Given the description of an element on the screen output the (x, y) to click on. 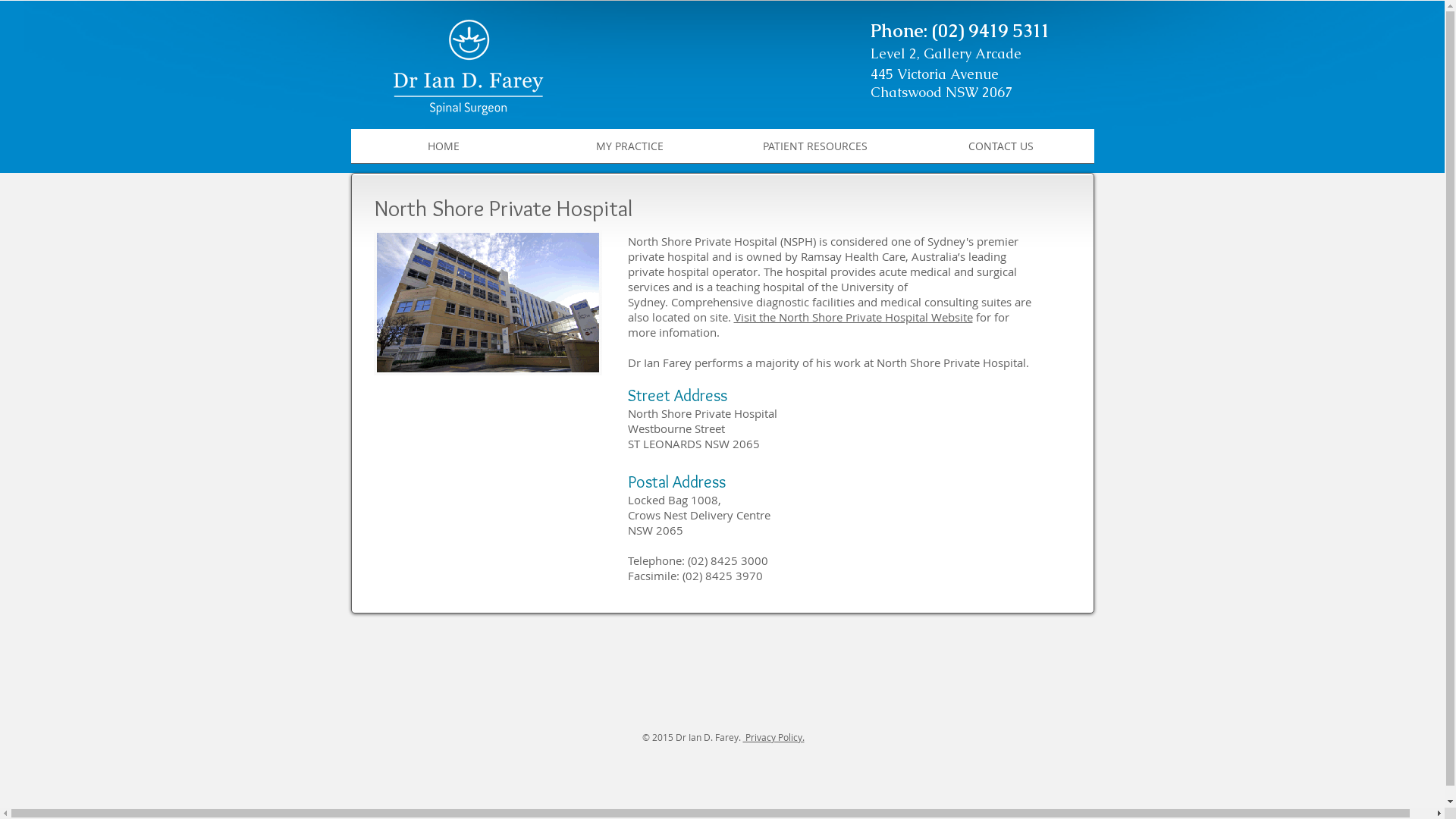
HOME Element type: text (443, 150)
 Privacy Policy. Element type: text (773, 737)
CONTACT US Element type: text (1001, 150)
Visit the North Shore Private Hospital Website Element type: text (853, 316)
